Given the description of an element on the screen output the (x, y) to click on. 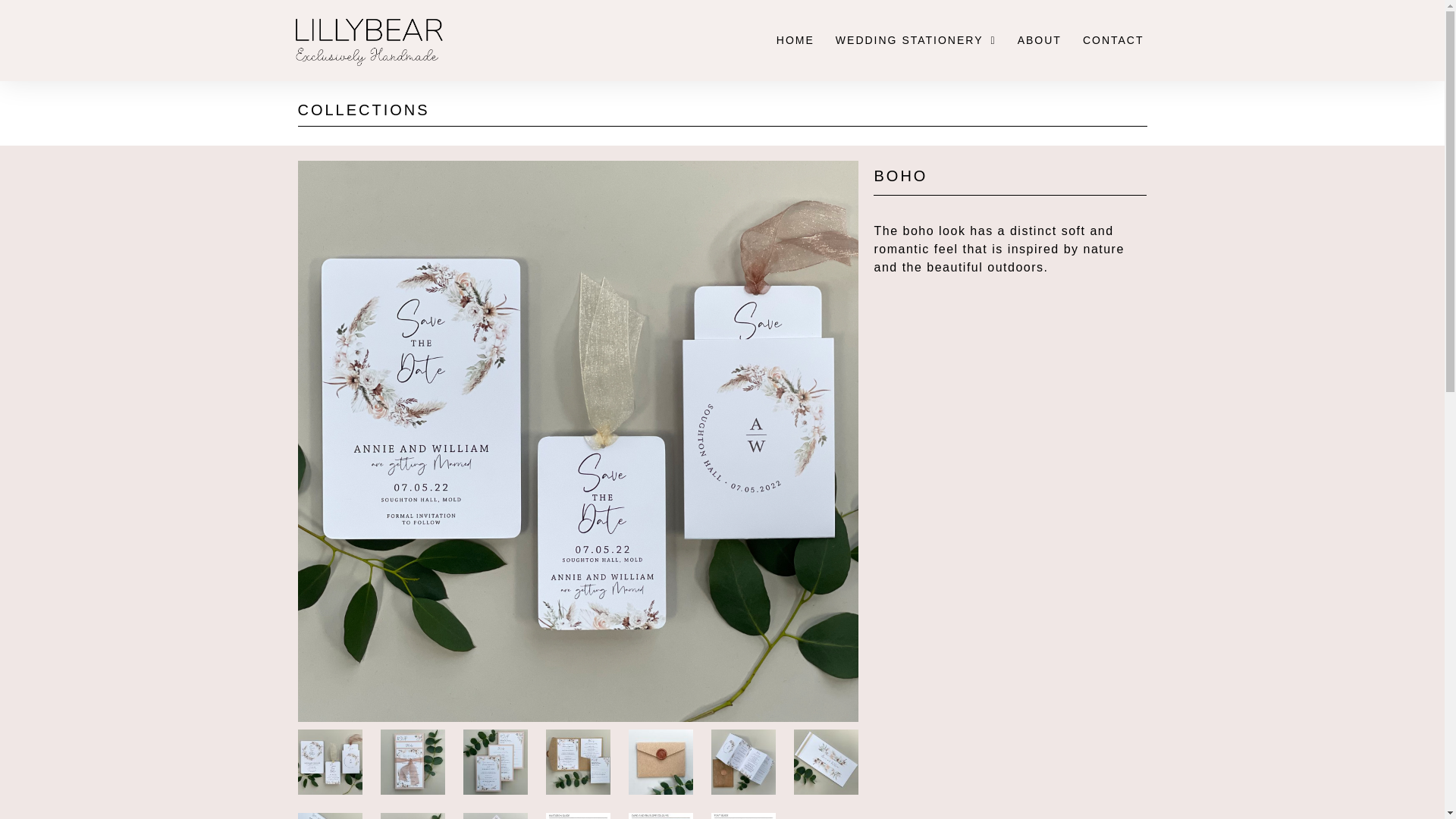
CONTACT (1112, 40)
HOME (795, 40)
ABOUT (1039, 40)
WEDDING STATIONERY (916, 40)
